Given the description of an element on the screen output the (x, y) to click on. 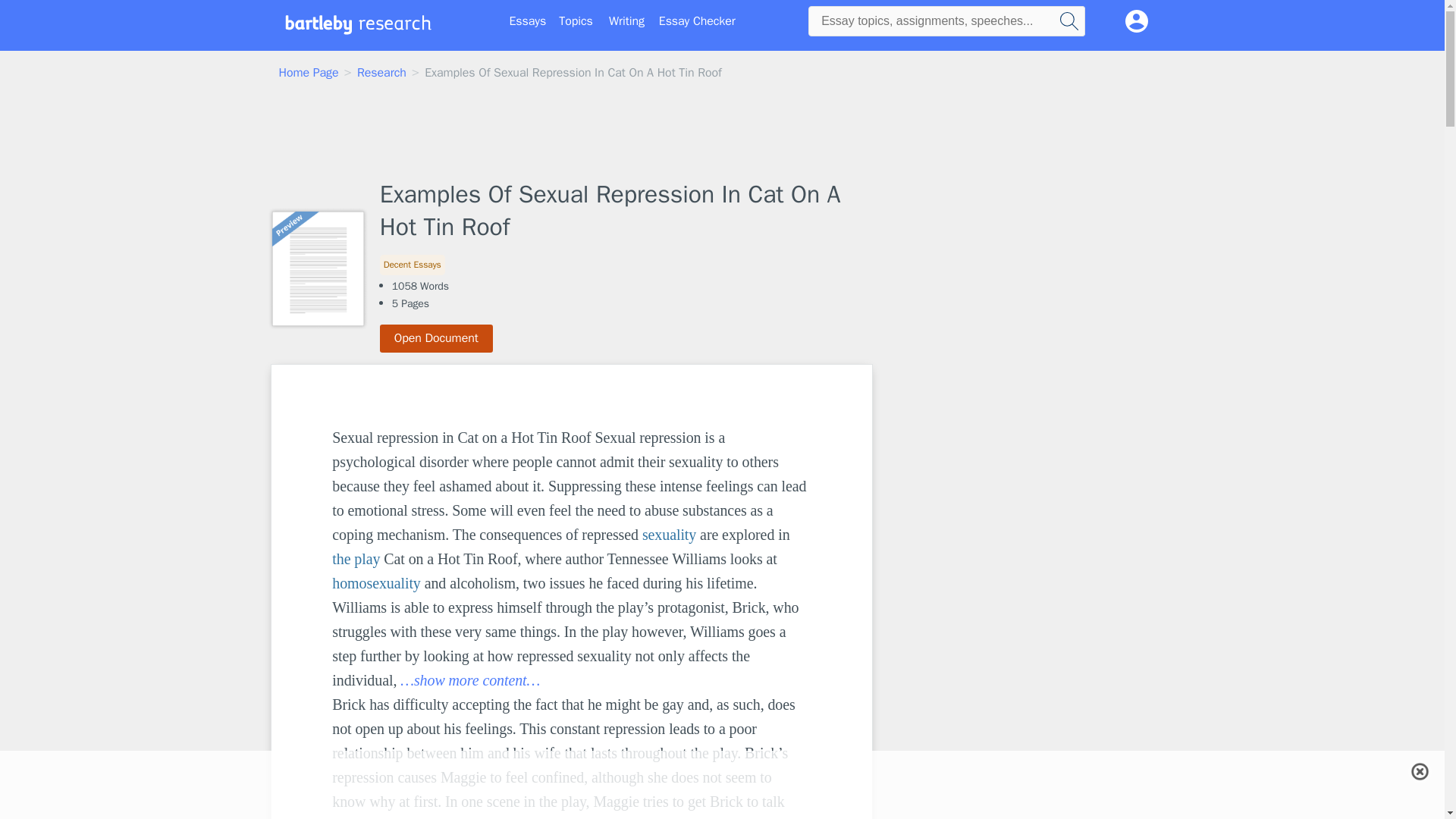
the play (355, 558)
Topics (575, 20)
Essays (528, 20)
3rd party ad content (721, 131)
3rd party ad content (997, 458)
Essay Checker (697, 20)
3rd party ad content (721, 785)
sexuality (668, 534)
Home Page (309, 72)
Open Document (436, 338)
homosexuality (375, 582)
3rd party ad content (997, 673)
Writing (626, 20)
Research (381, 72)
